Given the description of an element on the screen output the (x, y) to click on. 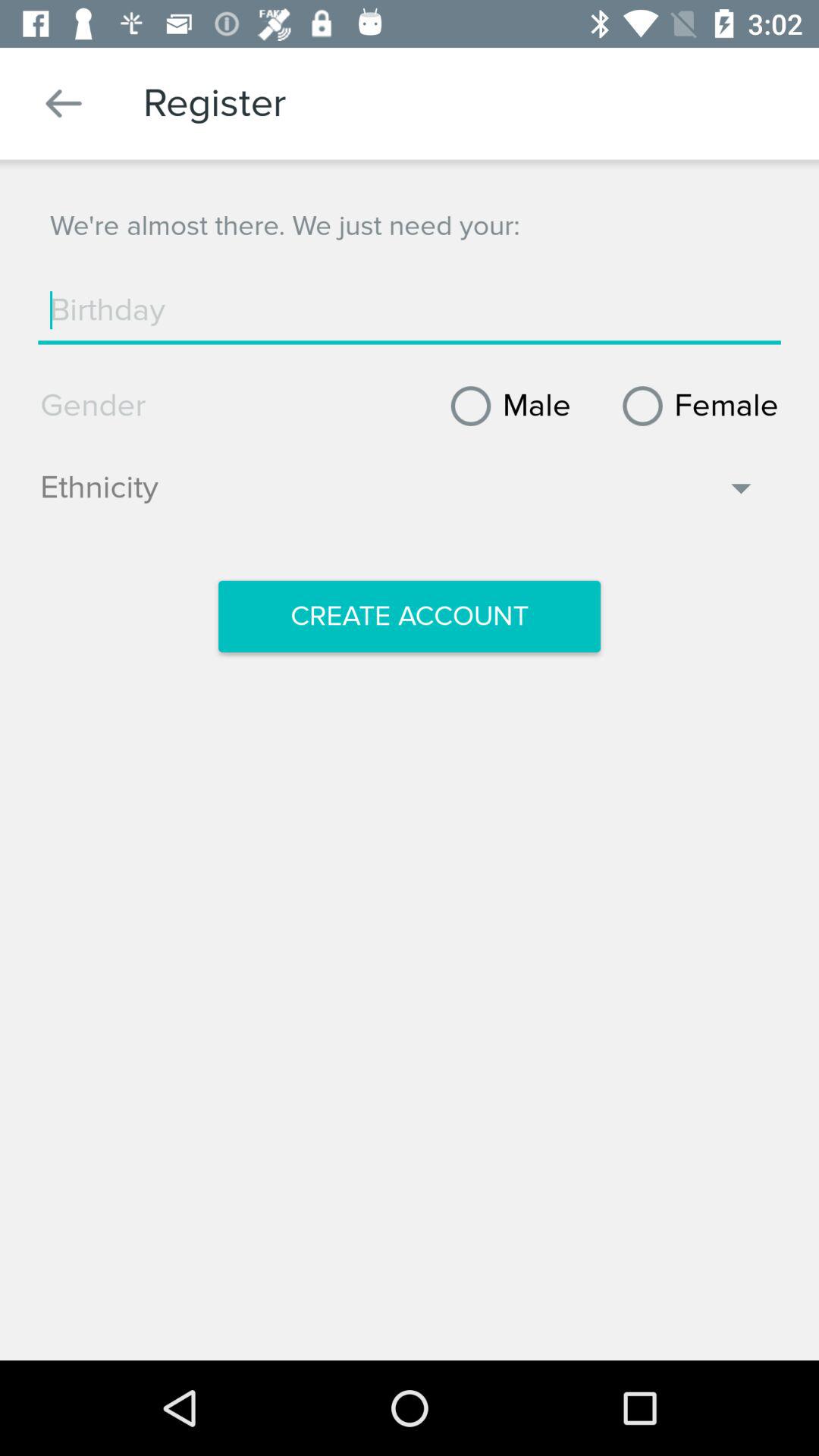
select ethnicity (399, 494)
